Given the description of an element on the screen output the (x, y) to click on. 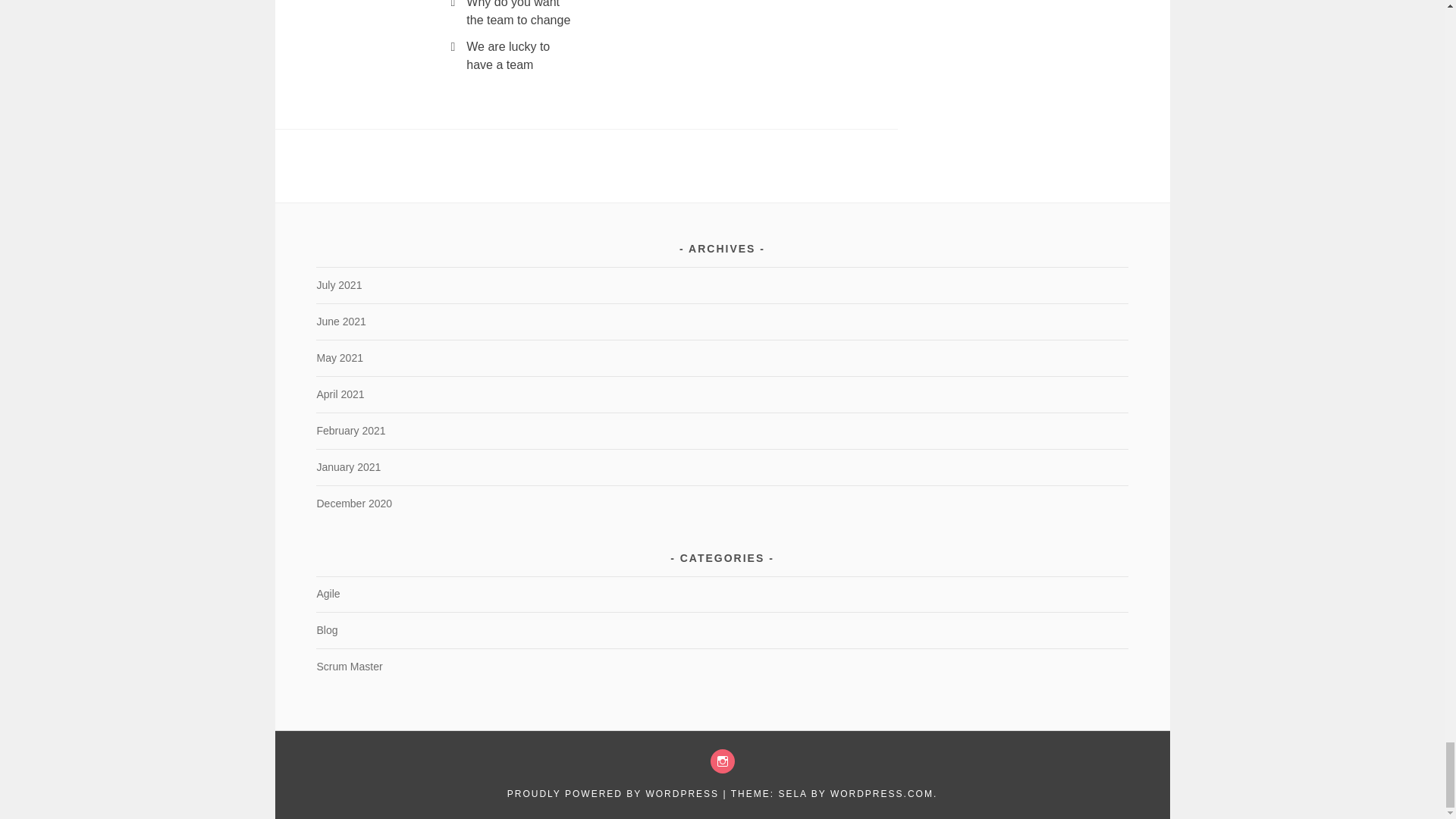
April 2021 (339, 394)
June 2021 (340, 321)
February 2021 (350, 430)
Instagram (721, 761)
May 2021 (338, 357)
A Semantic Personal Publishing Platform (612, 793)
July 2021 (338, 285)
